Given the description of an element on the screen output the (x, y) to click on. 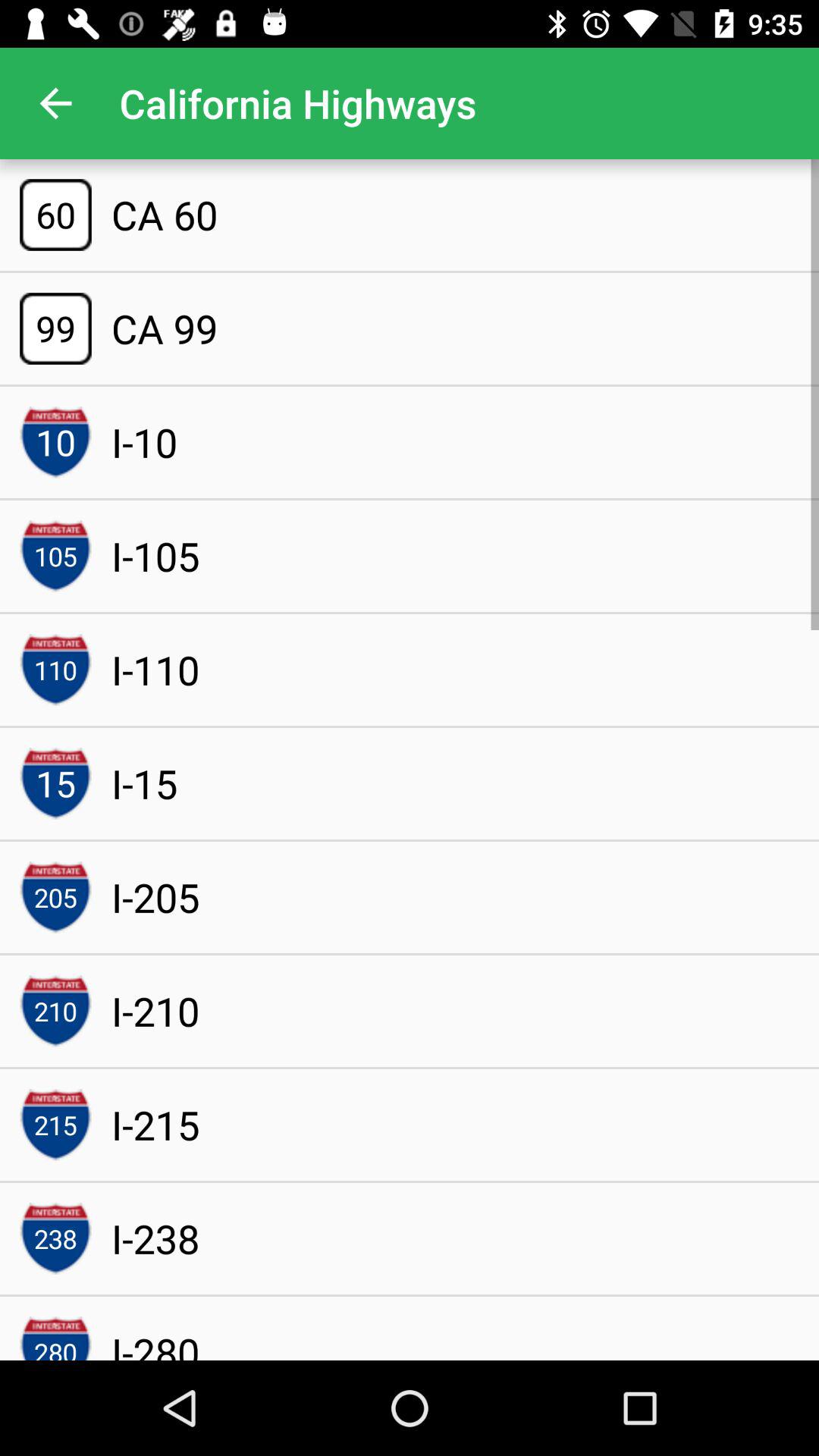
tap the ca 99 (164, 328)
